Given the description of an element on the screen output the (x, y) to click on. 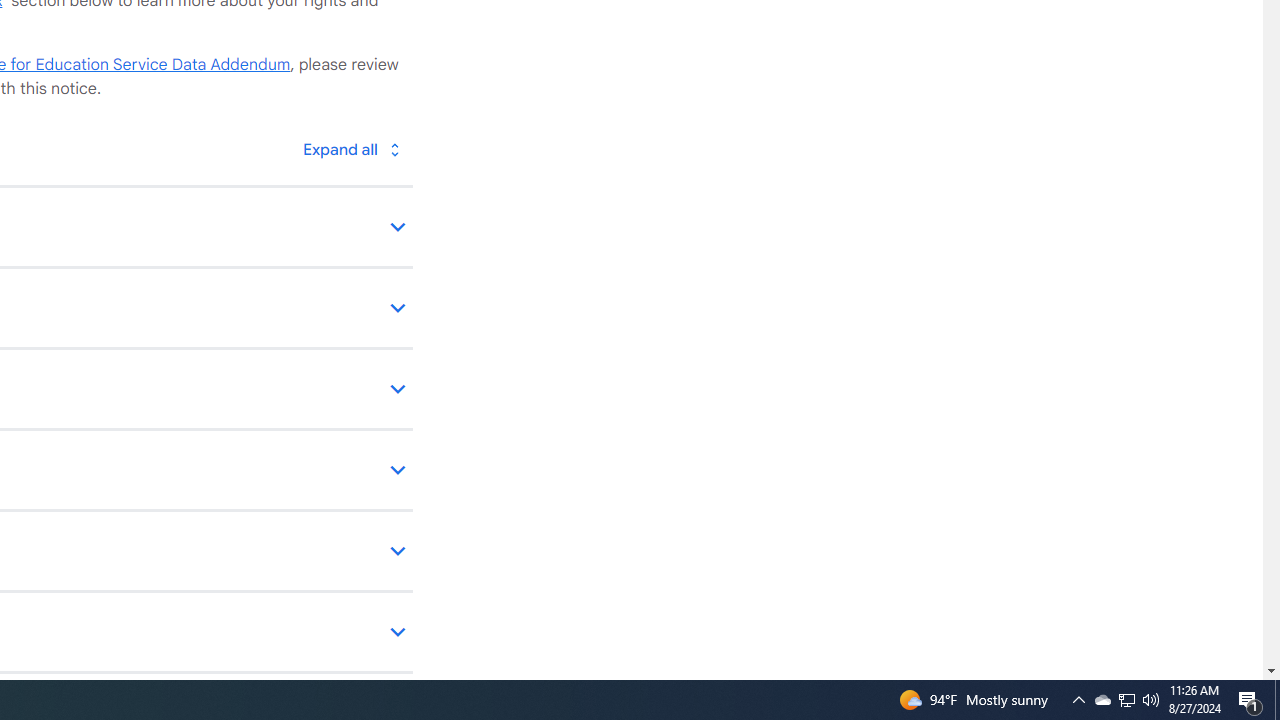
Toggle all (351, 148)
